Given the description of an element on the screen output the (x, y) to click on. 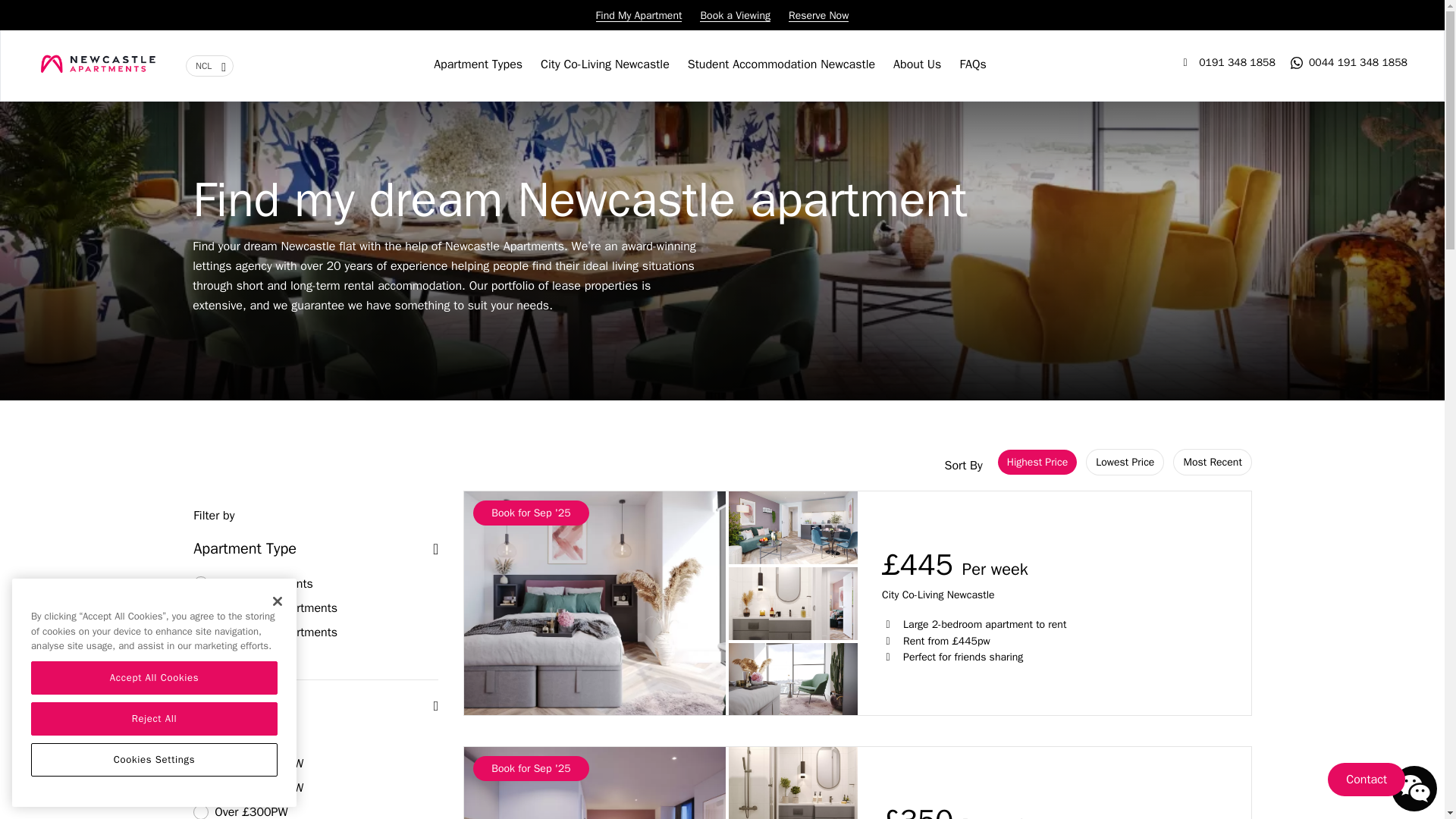
Apartment Types (477, 64)
Most Recent (1211, 461)
About Us (916, 64)
Lowest Price (1124, 461)
Book a Viewing (735, 15)
0044 191 348 1858 (1348, 62)
Highest Price (1037, 462)
Find My Apartment (638, 15)
City Co-Living Newcastle (604, 64)
0191 348 1858 (1226, 62)
FAQs (972, 64)
Student Accommodation Newcastle (781, 64)
Reserve Now (818, 15)
